Given the description of an element on the screen output the (x, y) to click on. 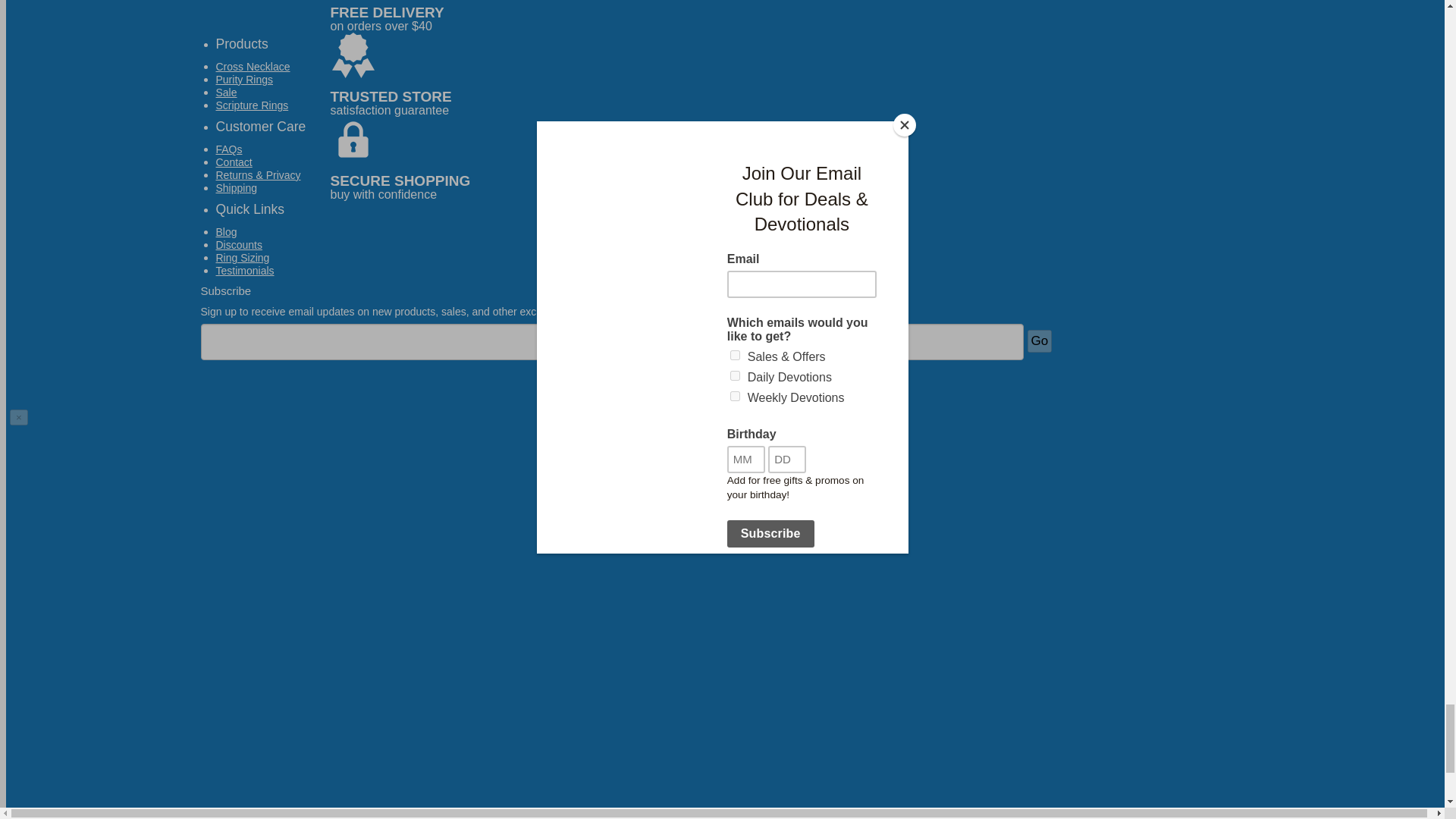
Go (1038, 341)
